Given the description of an element on the screen output the (x, y) to click on. 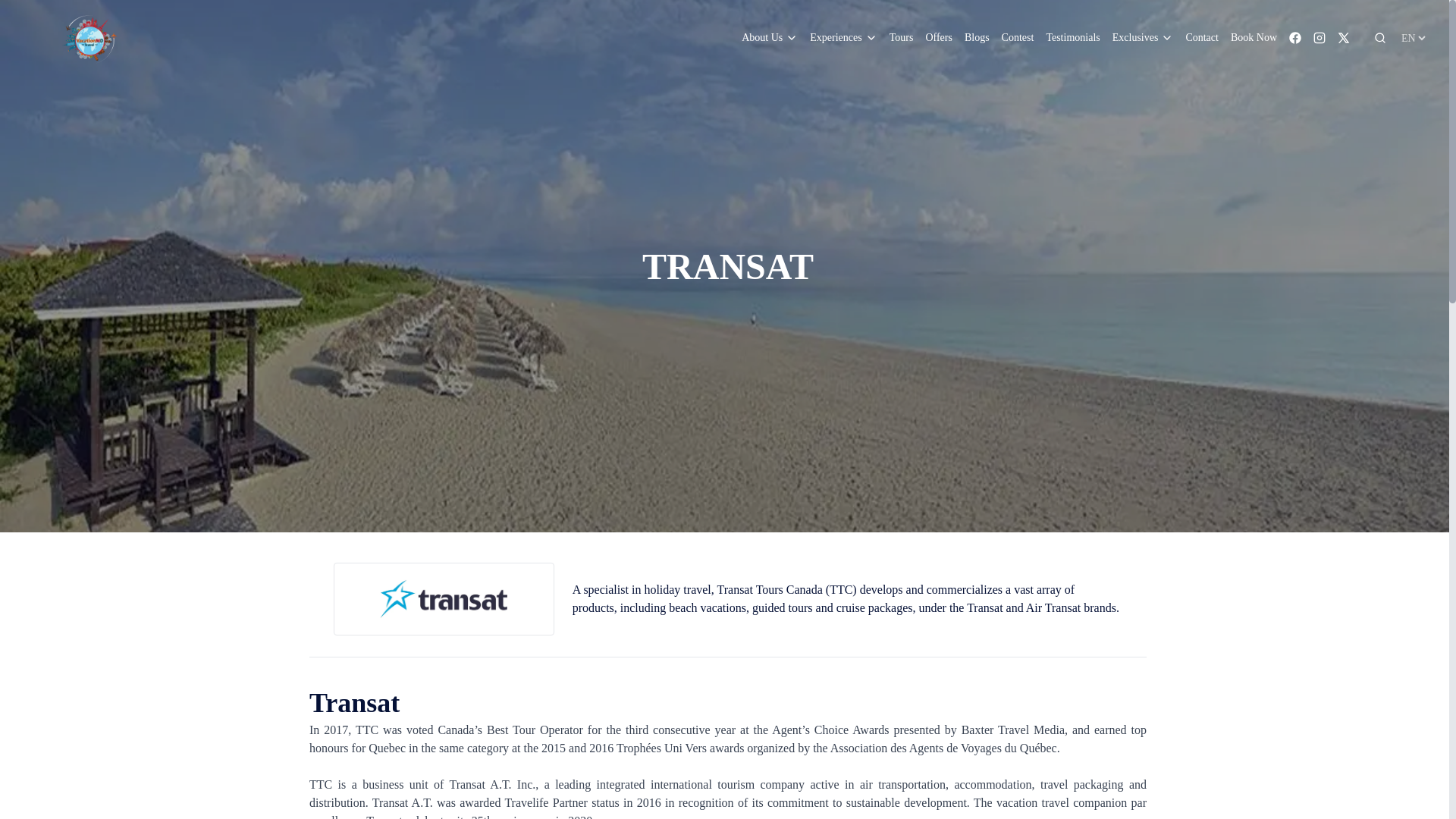
About Us (769, 37)
Testimonials (1072, 37)
Exclusives (1142, 37)
Book Now (1253, 37)
Experiences (842, 37)
